Given the description of an element on the screen output the (x, y) to click on. 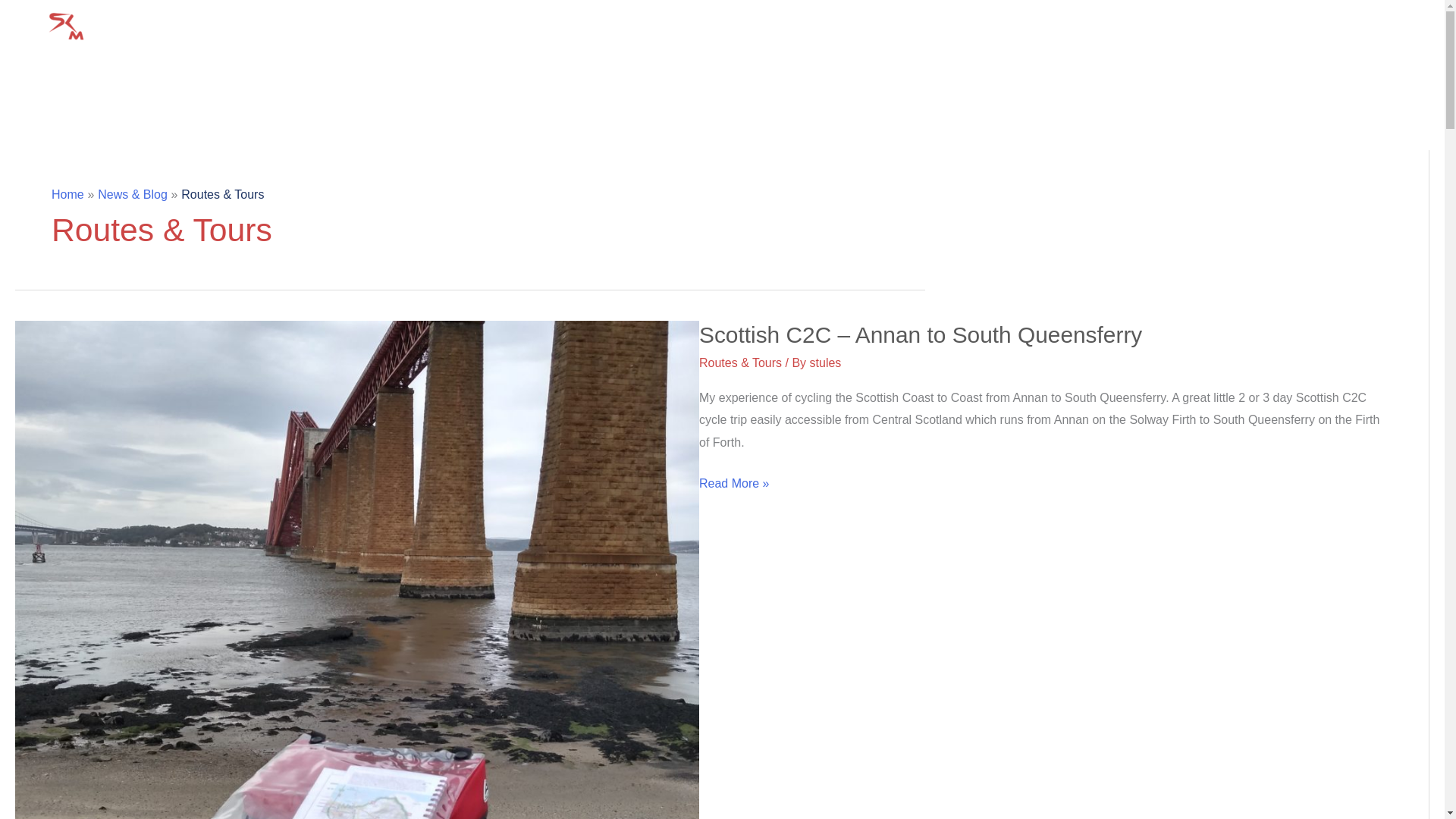
Home (67, 194)
HOME (953, 50)
SERVICES (1166, 50)
CONTACT US (1377, 50)
View all posts by stules (825, 362)
stules (825, 362)
